Given the description of an element on the screen output the (x, y) to click on. 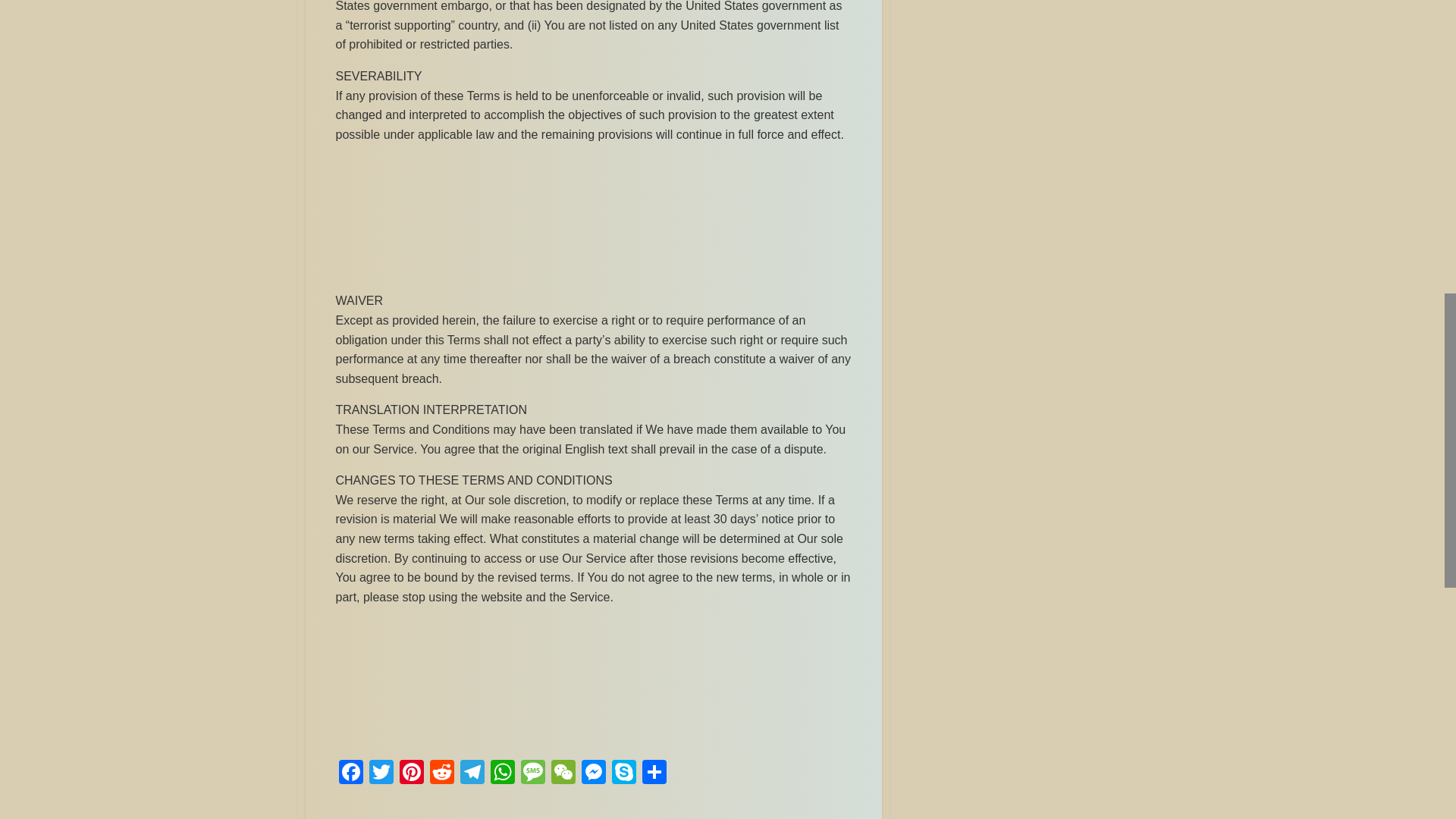
Message (531, 773)
Twitter (380, 773)
WhatsApp (501, 773)
Message (531, 773)
WeChat (562, 773)
Skype (623, 773)
Messenger (593, 773)
Telegram (471, 773)
Share (653, 773)
Twitter (380, 773)
Facebook (349, 773)
WeChat (562, 773)
Pinterest (411, 773)
Facebook (349, 773)
Telegram (471, 773)
